Given the description of an element on the screen output the (x, y) to click on. 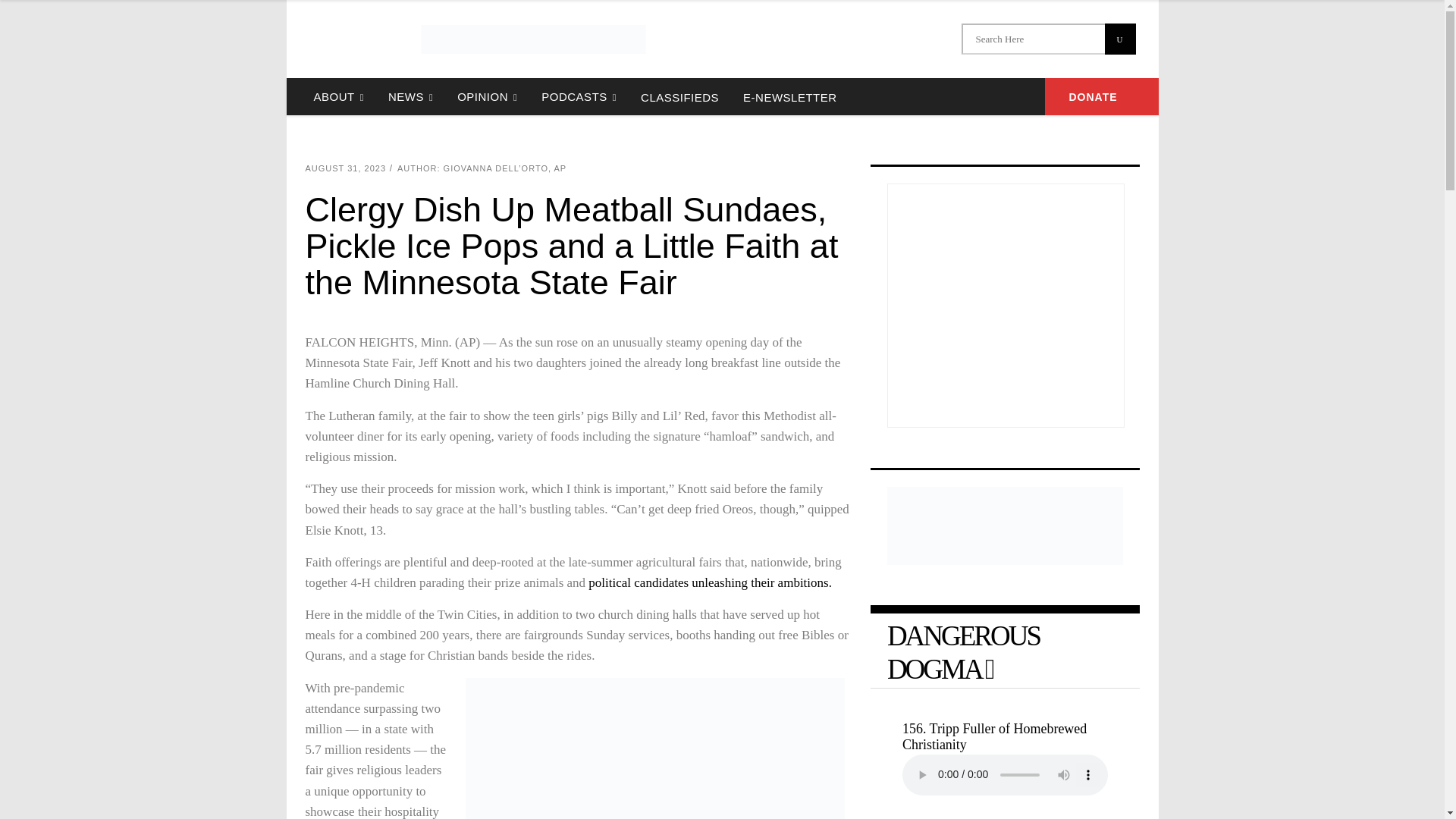
DONATE (1101, 96)
OPINION (487, 96)
U (1119, 38)
E-NEWSLETTER (789, 96)
NEWS (410, 96)
U (1119, 38)
CLASSIFIEDS (679, 96)
U (1119, 38)
PODCASTS (578, 96)
ABOUT (338, 96)
